Given the description of an element on the screen output the (x, y) to click on. 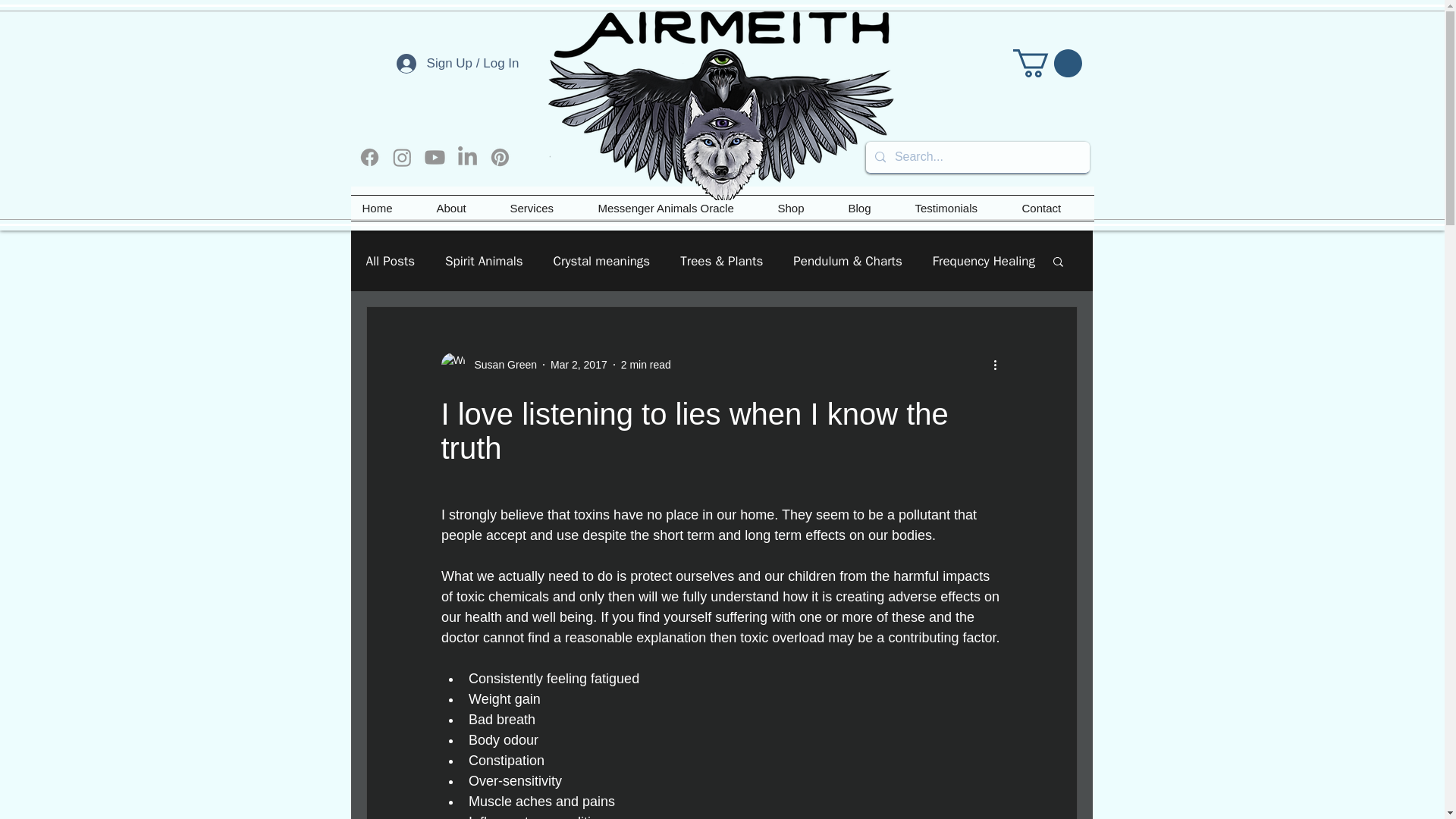
Spirit Animals (483, 260)
Crystal meanings (601, 260)
2 min read (646, 363)
Shop (800, 207)
Testimonials (957, 207)
Home (387, 207)
Services (542, 207)
About (461, 207)
Blog (870, 207)
Mar 2, 2017 (578, 363)
Frequency Healing (984, 260)
All Posts (389, 260)
Messenger Animals Oracle (676, 207)
Susan Green (501, 364)
Contact (1051, 207)
